Given the description of an element on the screen output the (x, y) to click on. 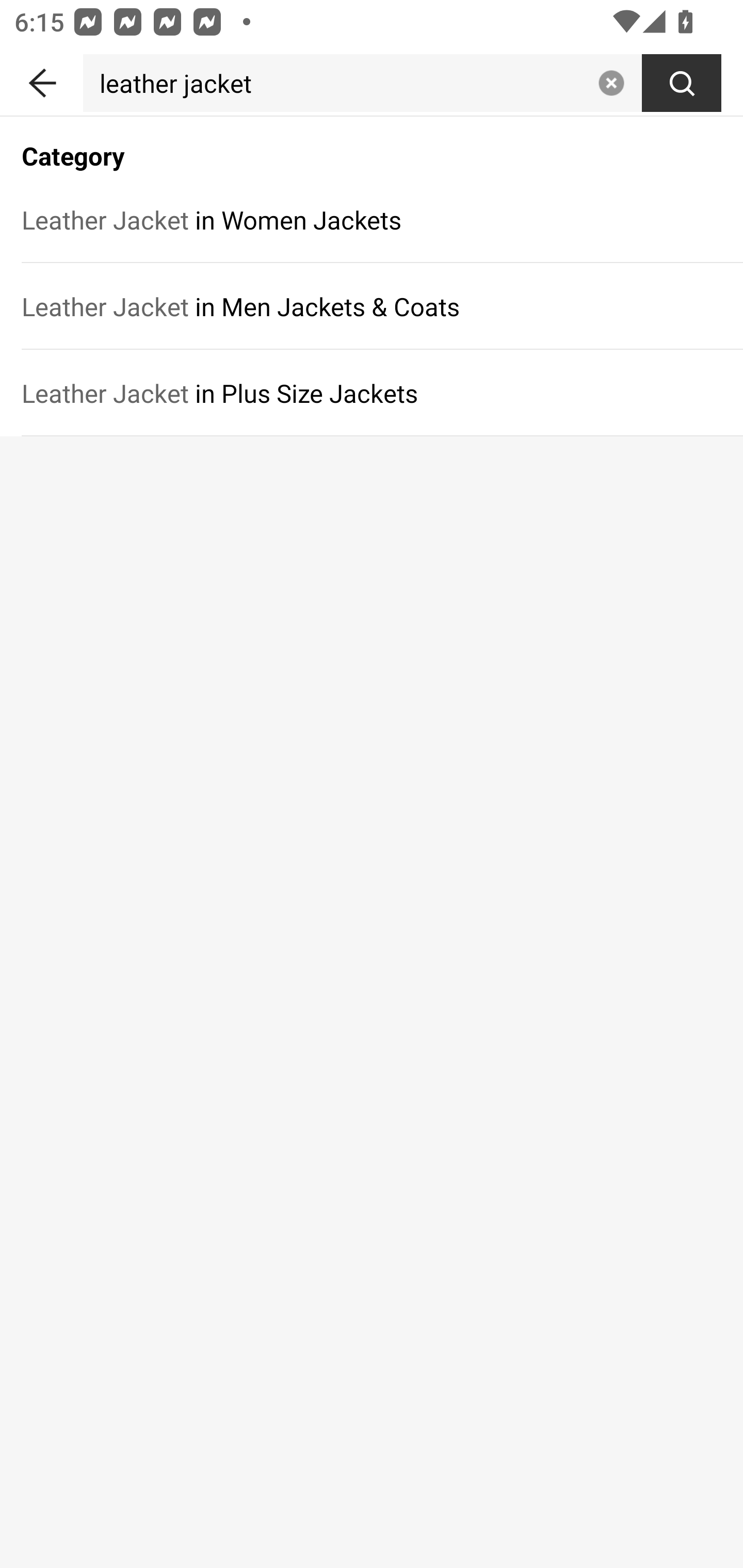
BACK (41, 79)
leather jacket (336, 82)
Clear (610, 82)
Category (371, 145)
Leather Jacket in Women Jackets (371, 219)
Leather Jacket in Men Jackets & Coats (371, 306)
Leather Jacket in Plus Size Jackets (371, 392)
